Given the description of an element on the screen output the (x, y) to click on. 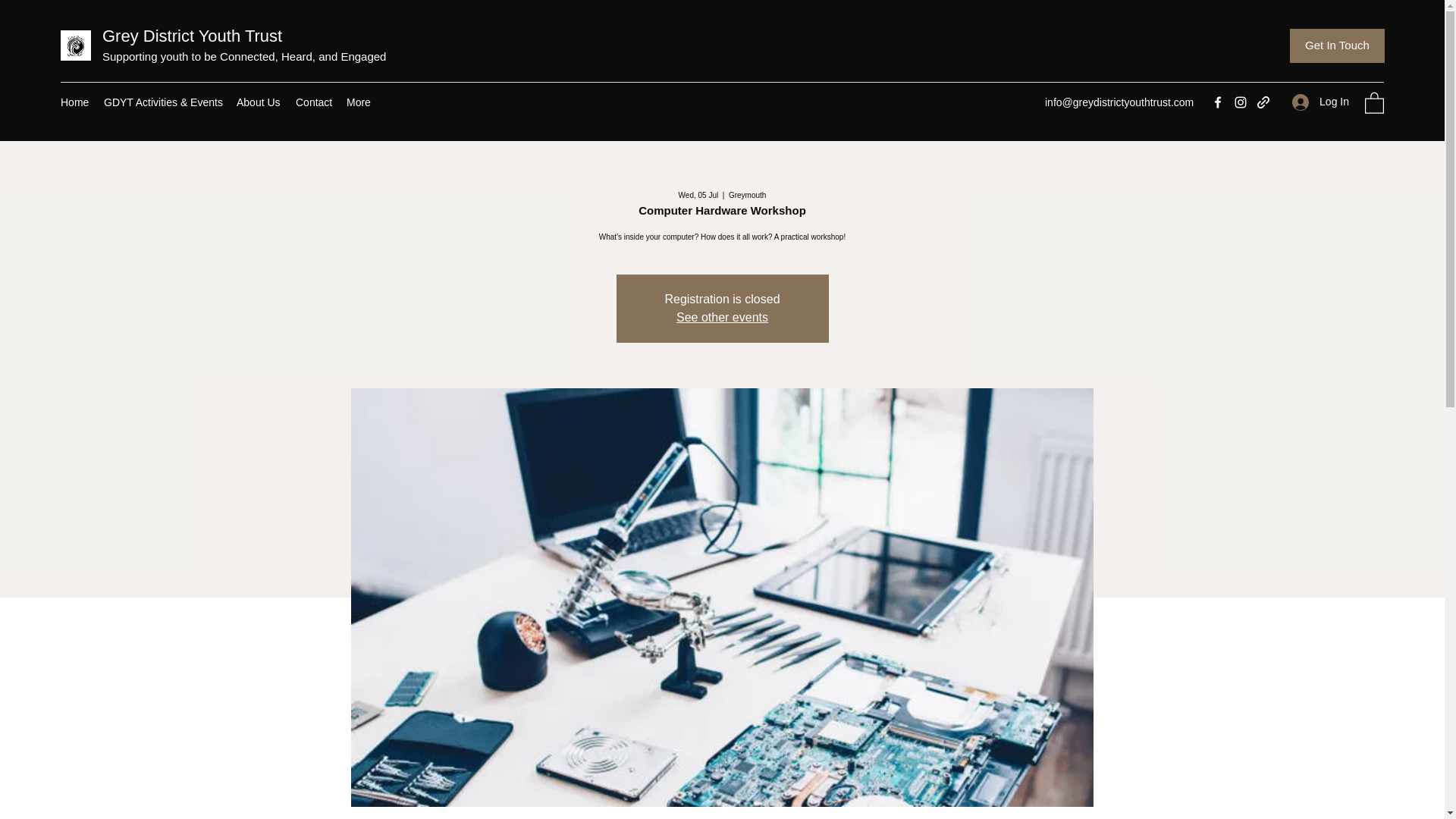
About Us (258, 101)
Grey District Youth Trust (191, 35)
Contact (313, 101)
Home (74, 101)
Get In Touch (1337, 45)
Log In (1320, 101)
See other events (722, 317)
